Given the description of an element on the screen output the (x, y) to click on. 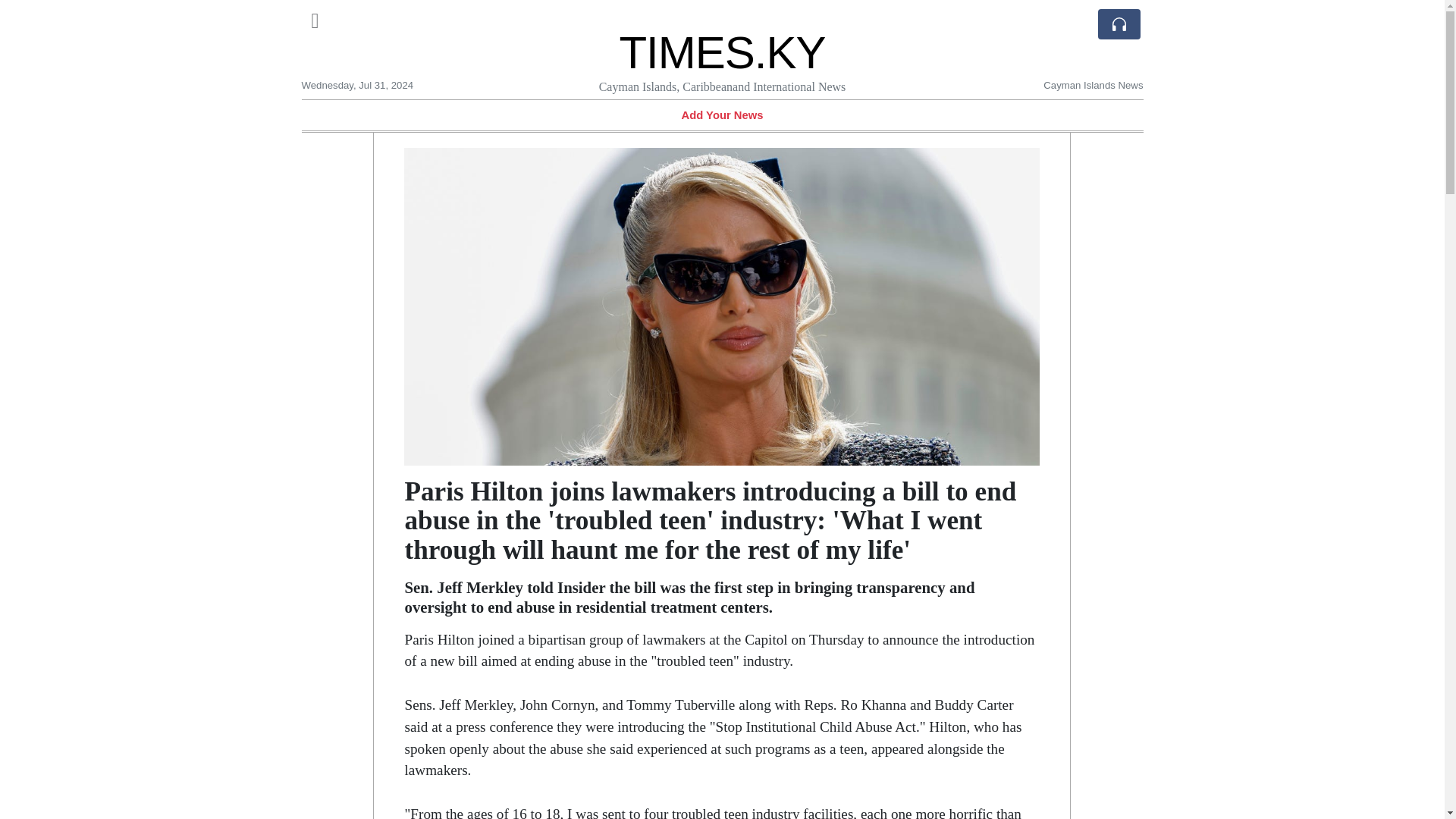
Add Your News (721, 114)
TIMES.KY (721, 52)
